Given the description of an element on the screen output the (x, y) to click on. 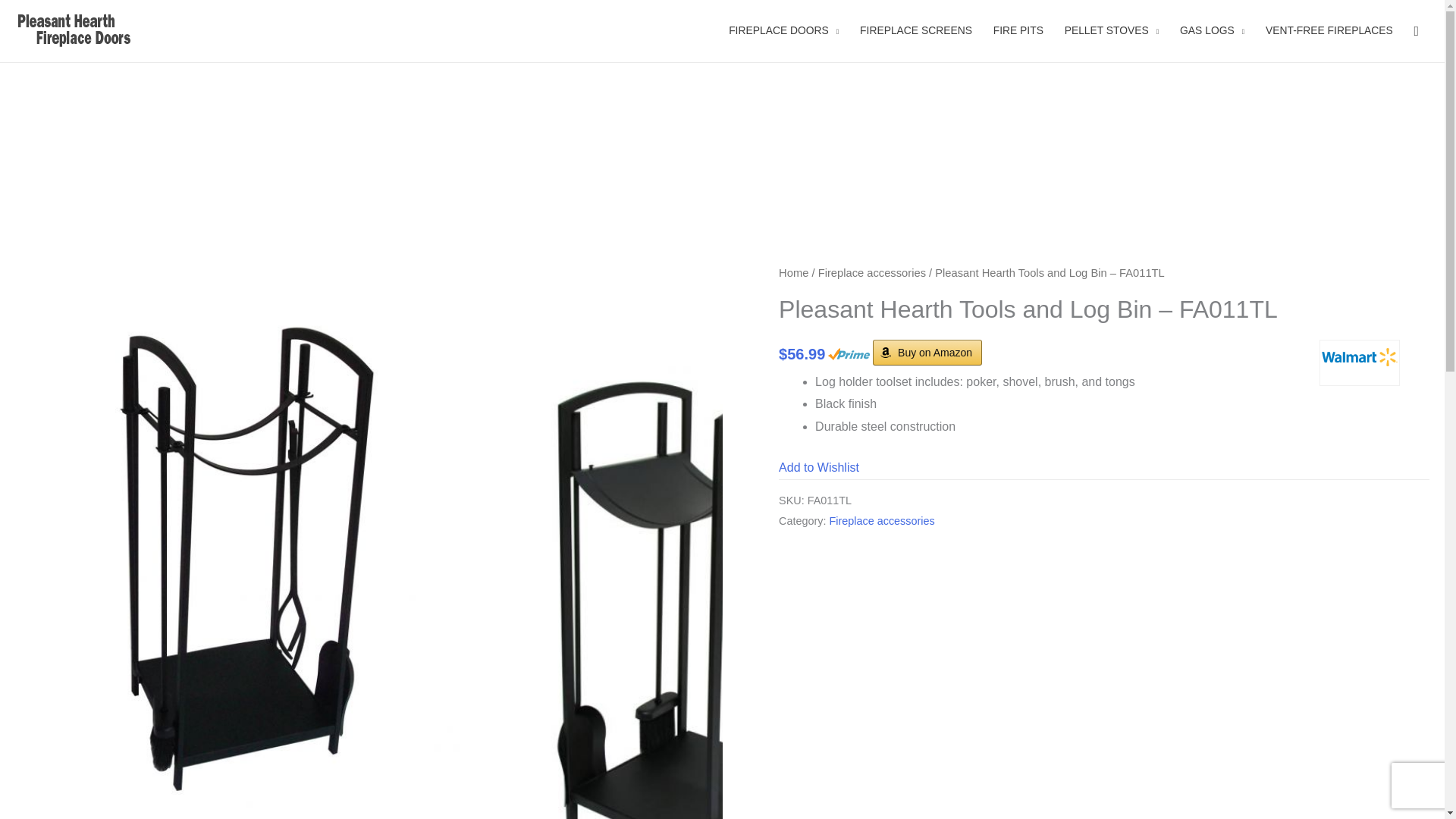
Home (793, 272)
PELLET STOVES (1111, 31)
GAS LOGS (1212, 31)
FIRE PITS (1018, 31)
Add to Wishlist (818, 467)
Fireplace accessories (881, 521)
Fireplace accessories (872, 272)
FIREPLACE DOORS (782, 31)
Buy on Amazon (926, 352)
VENT-FREE FIREPLACES (1329, 31)
